Given the description of an element on the screen output the (x, y) to click on. 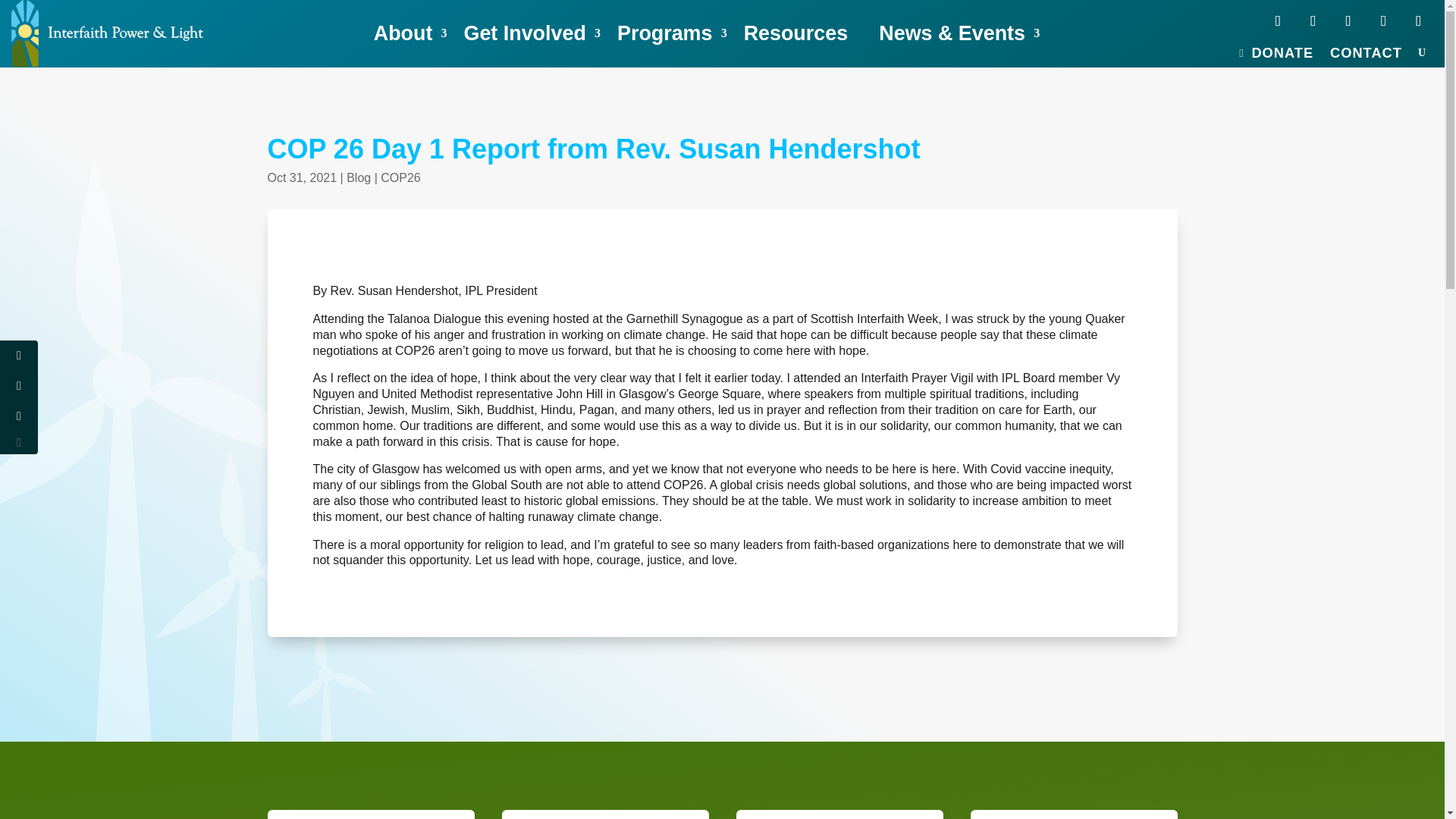
Follow on X (1312, 21)
Follow on Facebook (1277, 21)
Resources (803, 33)
Programs (671, 33)
Get Involved (531, 33)
Follow on Instagram (1382, 21)
Follow on LinkedIn (1418, 21)
Follow on Youtube (1347, 21)
About (410, 33)
